Given the description of an element on the screen output the (x, y) to click on. 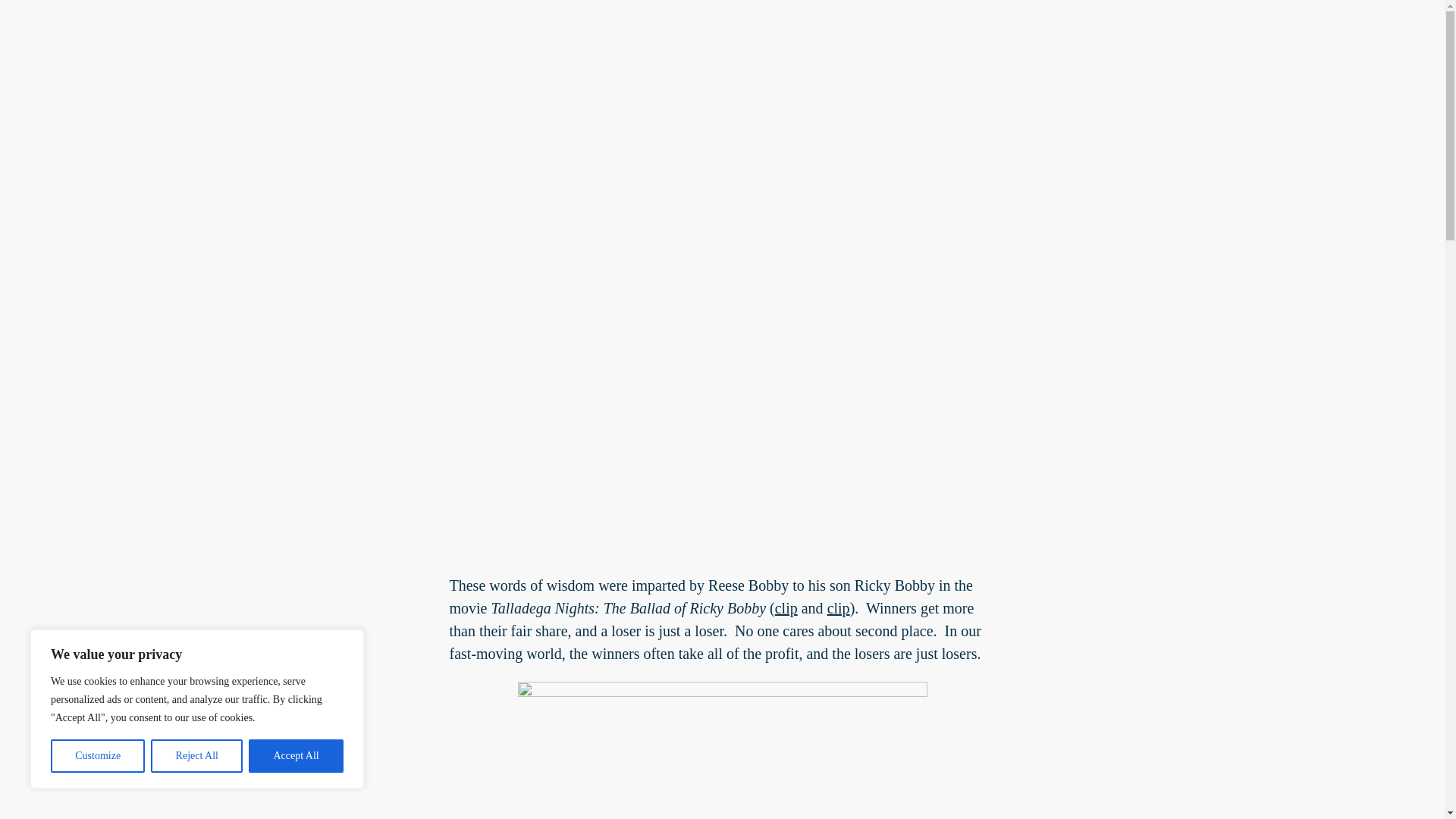
Customize (97, 756)
Accept All (295, 756)
Reject All (197, 756)
